Given the description of an element on the screen output the (x, y) to click on. 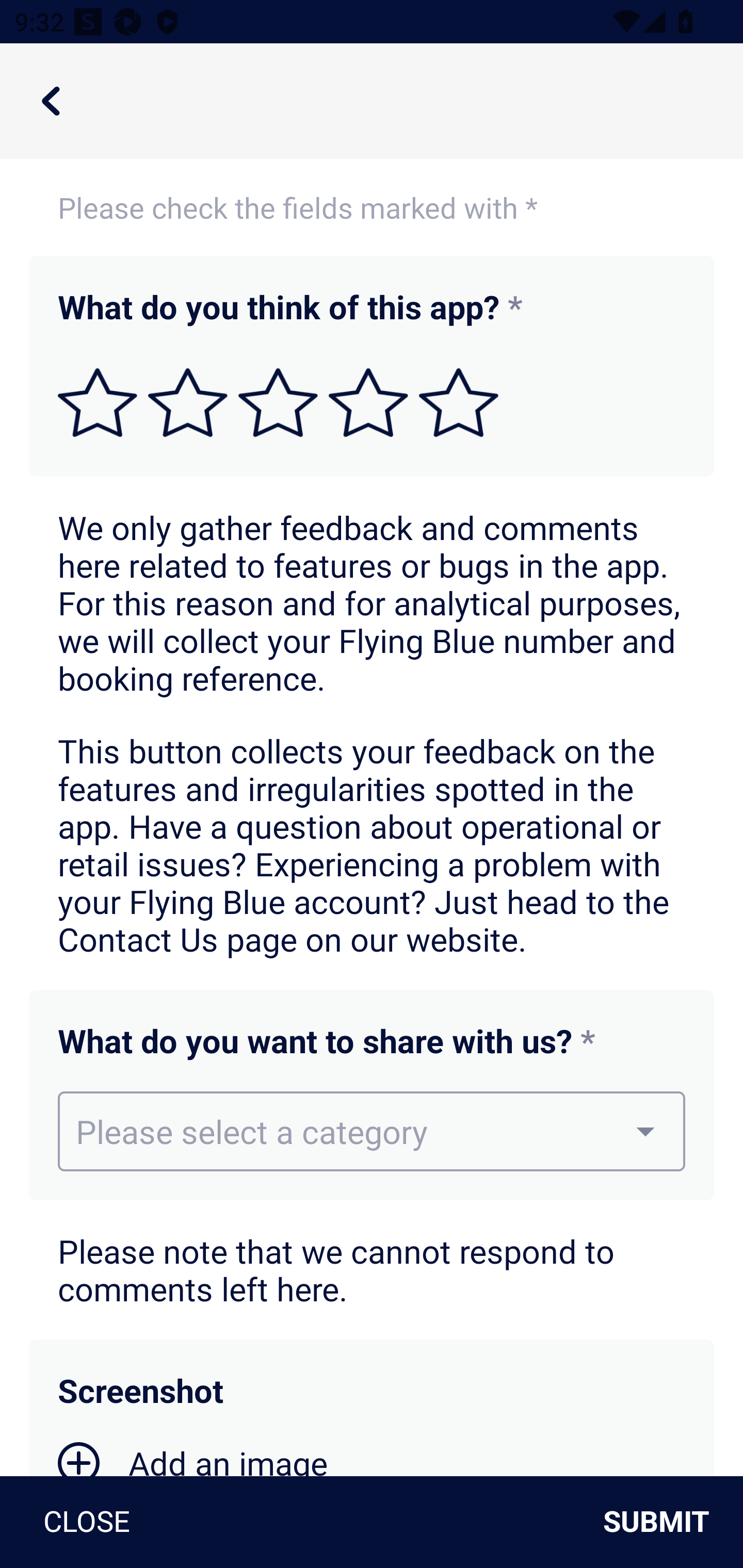
Navigate up (50, 101)
Please select a category (371, 1131)
Add an image (192, 1457)
CLOSE (79, 1521)
SUBMIT (663, 1521)
